Given the description of an element on the screen output the (x, y) to click on. 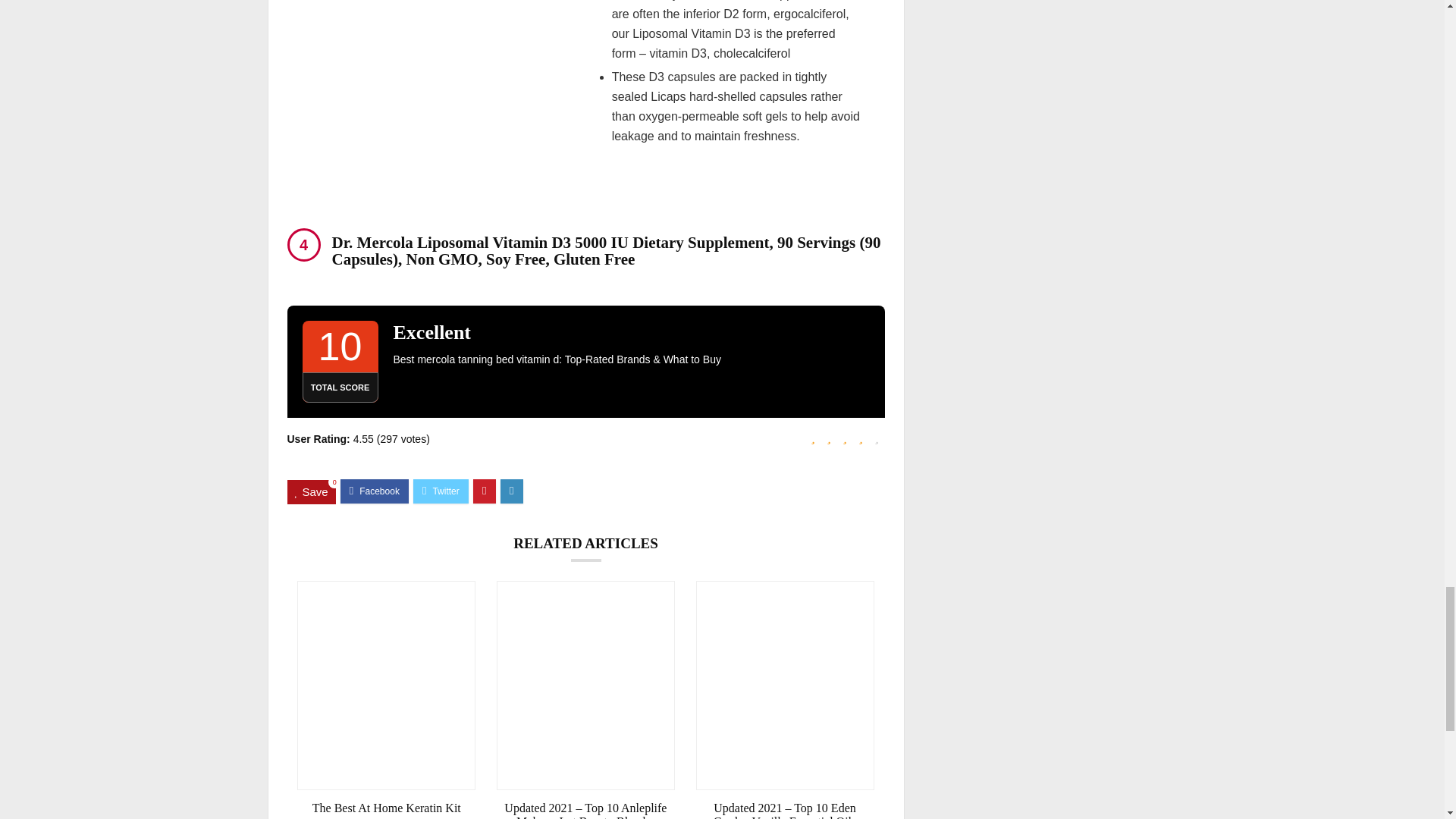
The Best At Home Keratin Kit (386, 807)
